Given the description of an element on the screen output the (x, y) to click on. 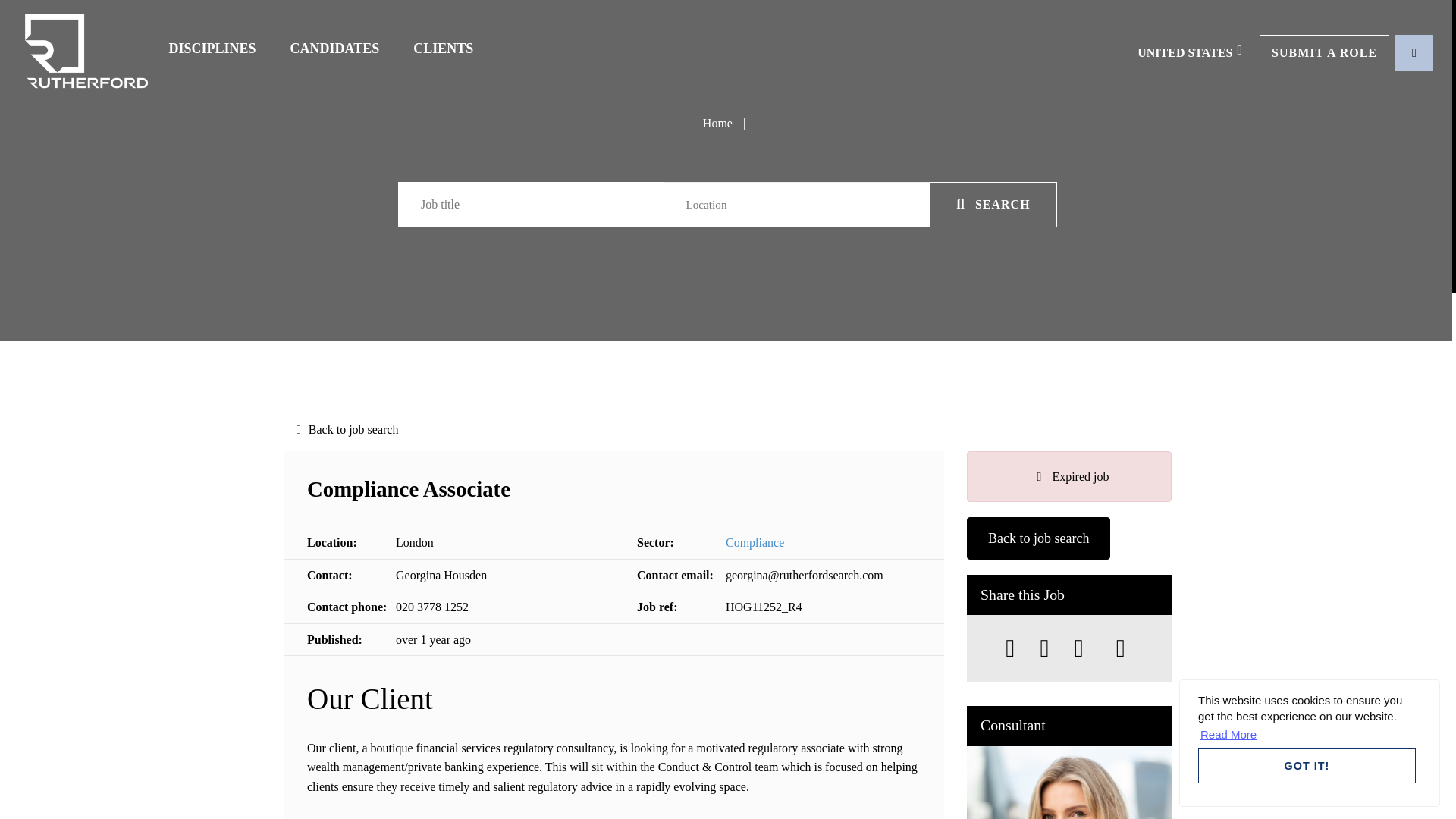
Read More (1228, 733)
GOT IT! (1306, 765)
CANDIDATES (334, 48)
DISCIPLINES (212, 48)
SUBMIT A ROLE (1324, 51)
CLIENTS (443, 48)
